Given the description of an element on the screen output the (x, y) to click on. 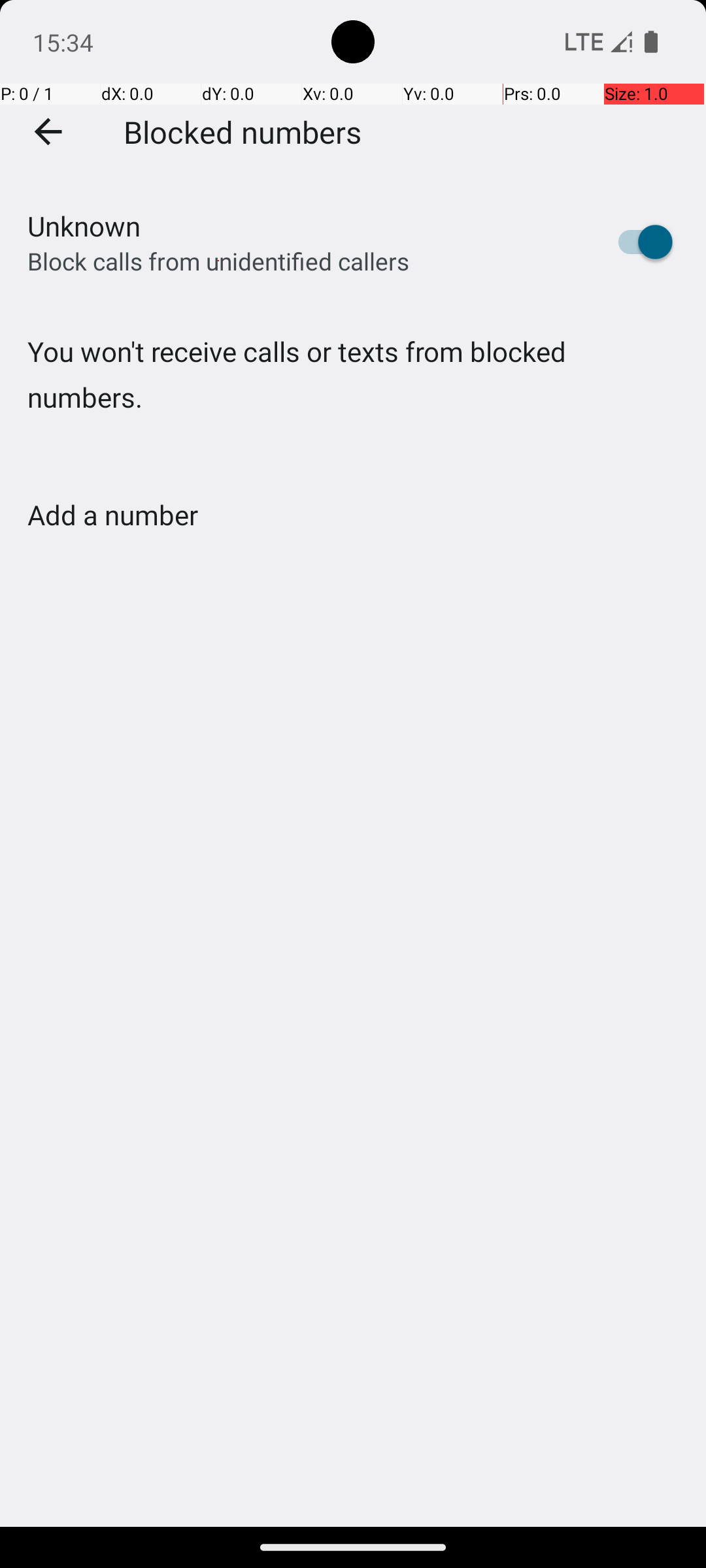
Blocked numbers Element type: android.widget.TextView (242, 131)
You won't receive calls or texts from blocked numbers. Element type: android.widget.TextView (352, 401)
Add a number Element type: android.widget.TextView (112, 514)
Unknown Element type: android.widget.TextView (83, 225)
Block calls from unidentified callers Element type: android.widget.TextView (218, 260)
Phone one bar. Element type: android.widget.FrameLayout (595, 41)
